Given the description of an element on the screen output the (x, y) to click on. 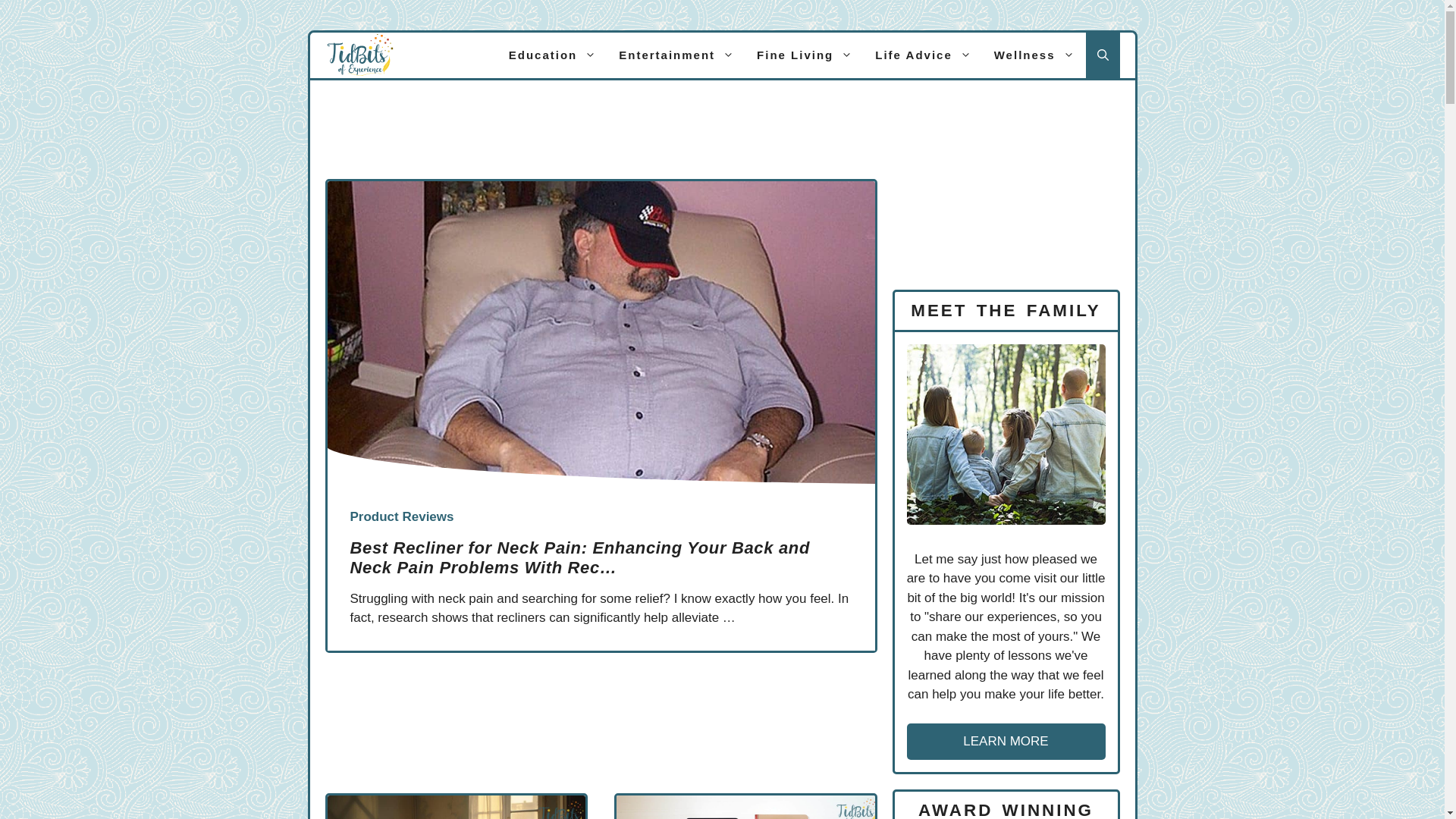
LEARN MORE Element type: text (1005, 741)
LEARN MORE Element type: text (1005, 740)
Life Advice Element type: text (922, 55)
Product Reviews Element type: text (402, 516)
Tidbits of Experience Element type: hover (359, 55)
Wellness Element type: text (1033, 55)
Education Element type: text (552, 55)
Fine Living Element type: text (804, 55)
Entertainment Element type: text (676, 55)
Skip to content Element type: text (29, 29)
